Given the description of an element on the screen output the (x, y) to click on. 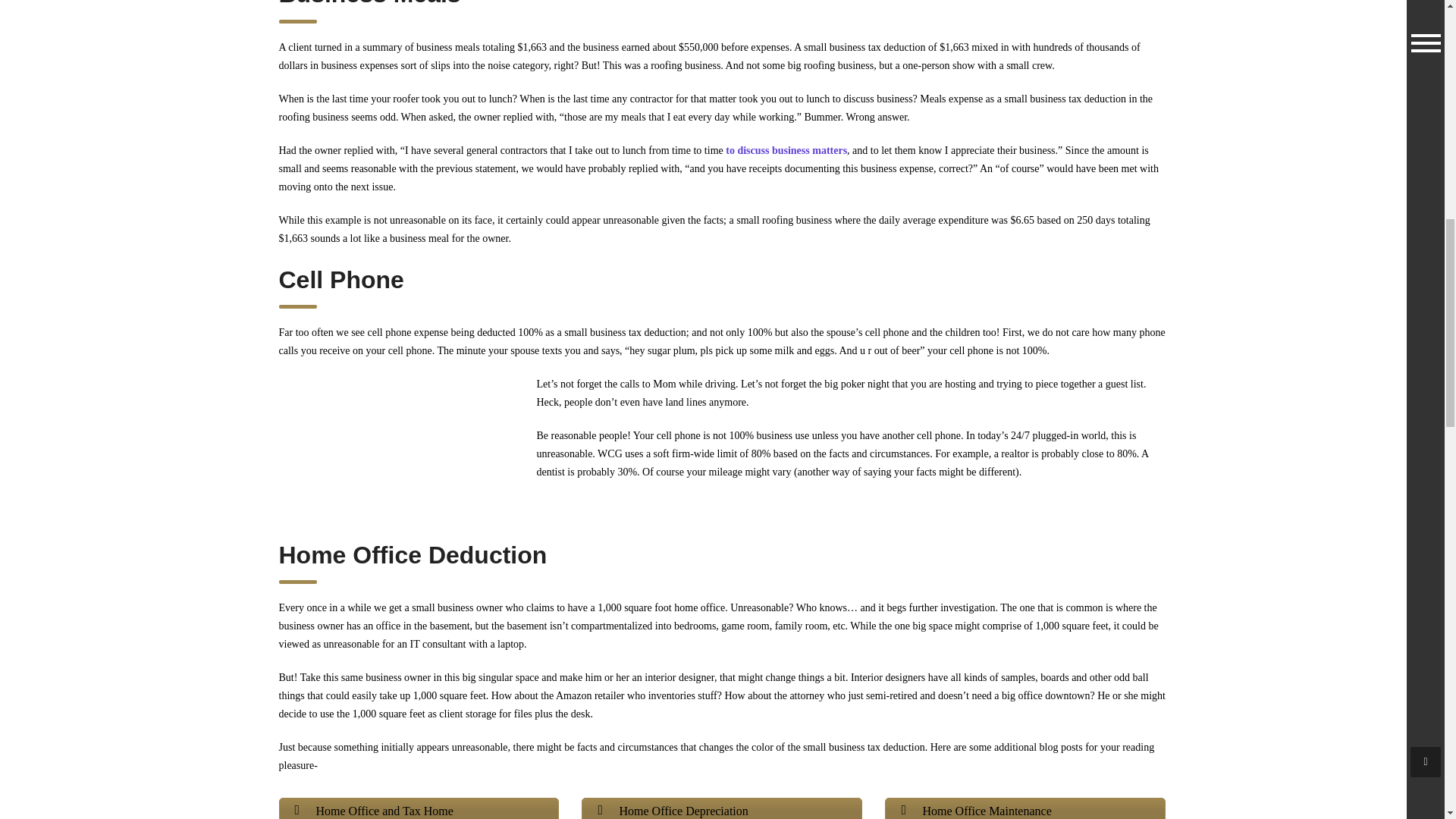
to discuss business matters (786, 150)
Home Office Maintenance (1025, 808)
Home Office Depreciation (720, 808)
Home Office and Tax Home (419, 808)
